Given the description of an element on the screen output the (x, y) to click on. 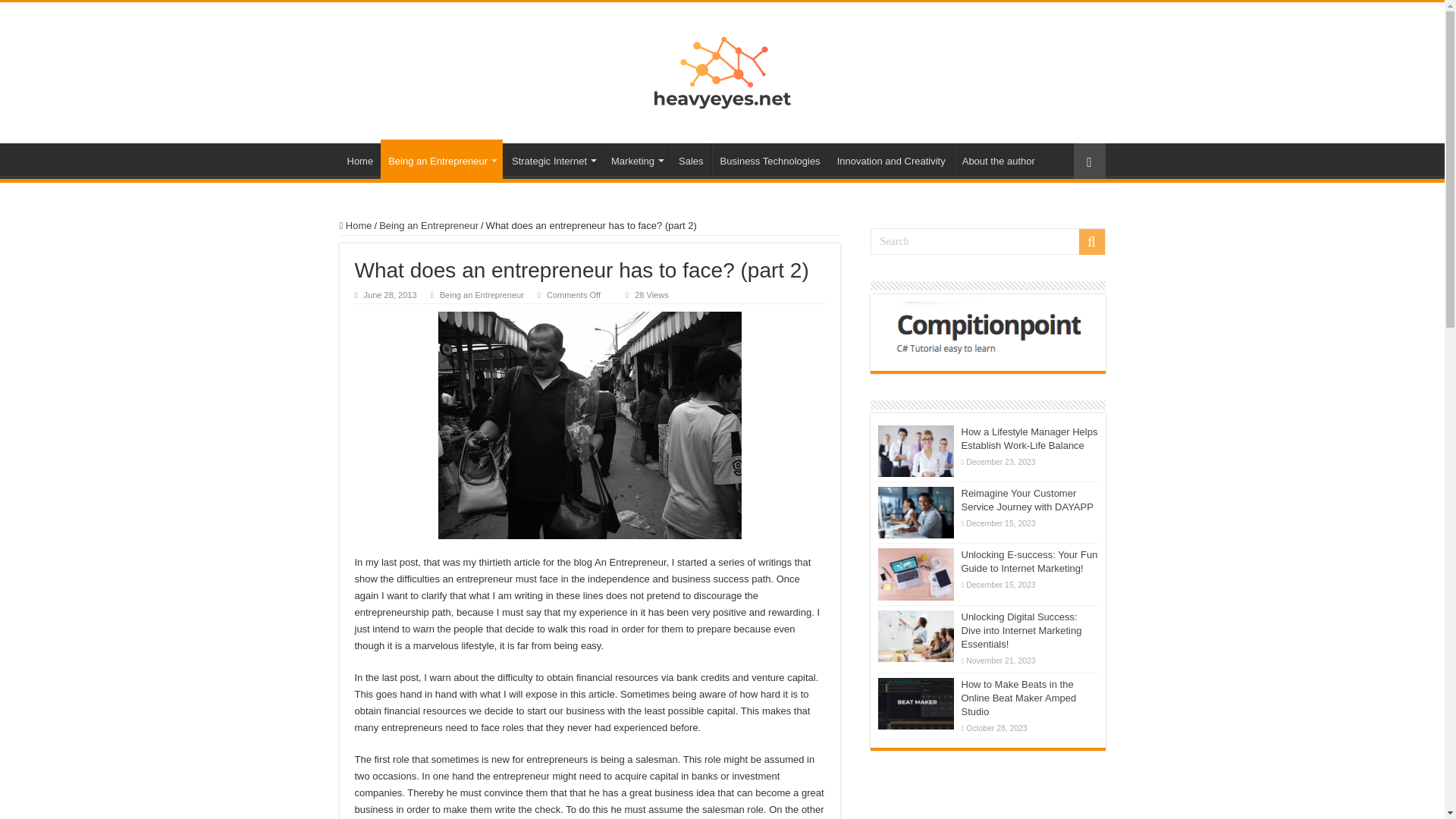
Home (360, 159)
Marketing (635, 159)
Home (355, 225)
Strategic Internet (552, 159)
Business Technologies (769, 159)
Search (987, 241)
Sales (690, 159)
Being an Entrepreneur (481, 294)
An Entrepreneur Blog (721, 69)
About the author (997, 159)
Being an Entrepreneur (441, 159)
Innovation and Creativity (890, 159)
Being an Entrepreneur (428, 225)
